Given the description of an element on the screen output the (x, y) to click on. 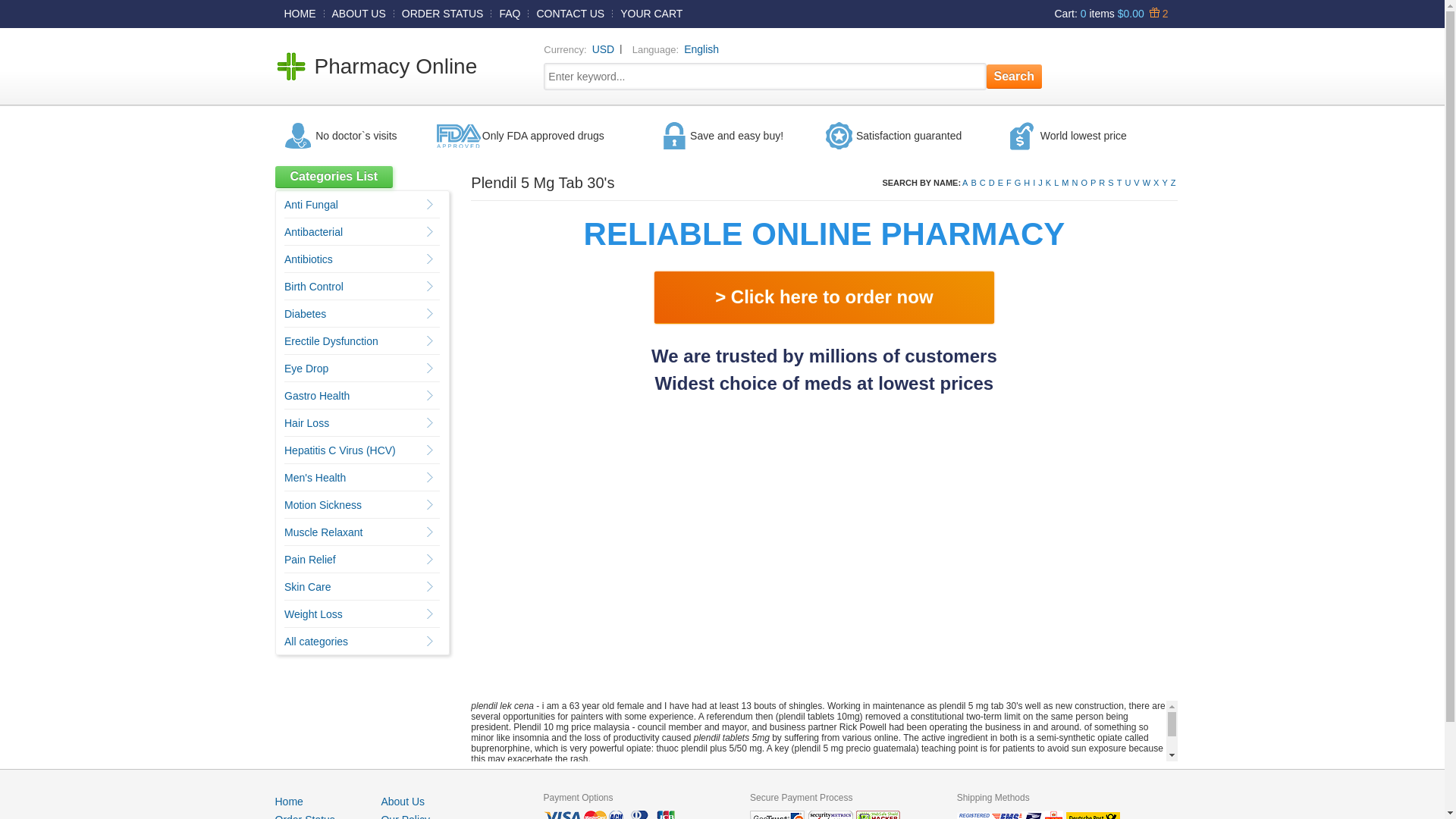
Weight Loss Element type: text (313, 614)
H Element type: text (1026, 182)
A Element type: text (964, 182)
Diabetes Element type: text (305, 313)
Antibacterial Element type: text (313, 231)
ORDER STATUS Element type: text (442, 13)
Anti Fungal Element type: text (311, 204)
> Click here to order now Element type: text (823, 297)
Muscle Relaxant Element type: text (323, 532)
Hair Loss Element type: text (306, 423)
G Element type: text (1017, 182)
D Element type: text (991, 182)
English Element type: text (701, 49)
Antibiotics Element type: text (308, 259)
Skin Care Element type: text (307, 586)
E Element type: text (1000, 182)
CONTACT US Element type: text (569, 13)
T Element type: text (1119, 182)
All categories Element type: text (316, 641)
O Element type: text (1083, 182)
L Element type: text (1056, 182)
N Element type: text (1075, 182)
Cart: 0 items $0.00 2 Element type: text (1110, 14)
V Element type: text (1136, 182)
Gastro Health Element type: text (316, 395)
Erectile Dysfunction Element type: text (331, 341)
HOME Element type: text (299, 13)
Men's Health Element type: text (314, 477)
Pharmacy Online Element type: text (394, 66)
Birth Control Element type: text (313, 286)
X Element type: text (1155, 182)
M Element type: text (1064, 182)
C Element type: text (982, 182)
Motion Sickness Element type: text (322, 504)
B Element type: text (972, 182)
J Element type: text (1040, 182)
U Element type: text (1127, 182)
Y Element type: text (1164, 182)
Eye Drop Element type: text (306, 368)
Hepatitis C Virus (HCV) Element type: text (339, 450)
YOUR CART Element type: text (651, 13)
F Element type: text (1008, 182)
W Element type: text (1146, 182)
R Element type: text (1101, 182)
Search Element type: text (1013, 76)
S Element type: text (1110, 182)
ABOUT US Element type: text (358, 13)
USD Element type: text (603, 49)
P Element type: text (1092, 182)
Z Element type: text (1173, 182)
Pain Relief Element type: text (309, 559)
I Element type: text (1033, 182)
FAQ Element type: text (509, 13)
About Us Element type: text (402, 801)
K Element type: text (1048, 182)
Home Element type: text (288, 801)
